Given the description of an element on the screen output the (x, y) to click on. 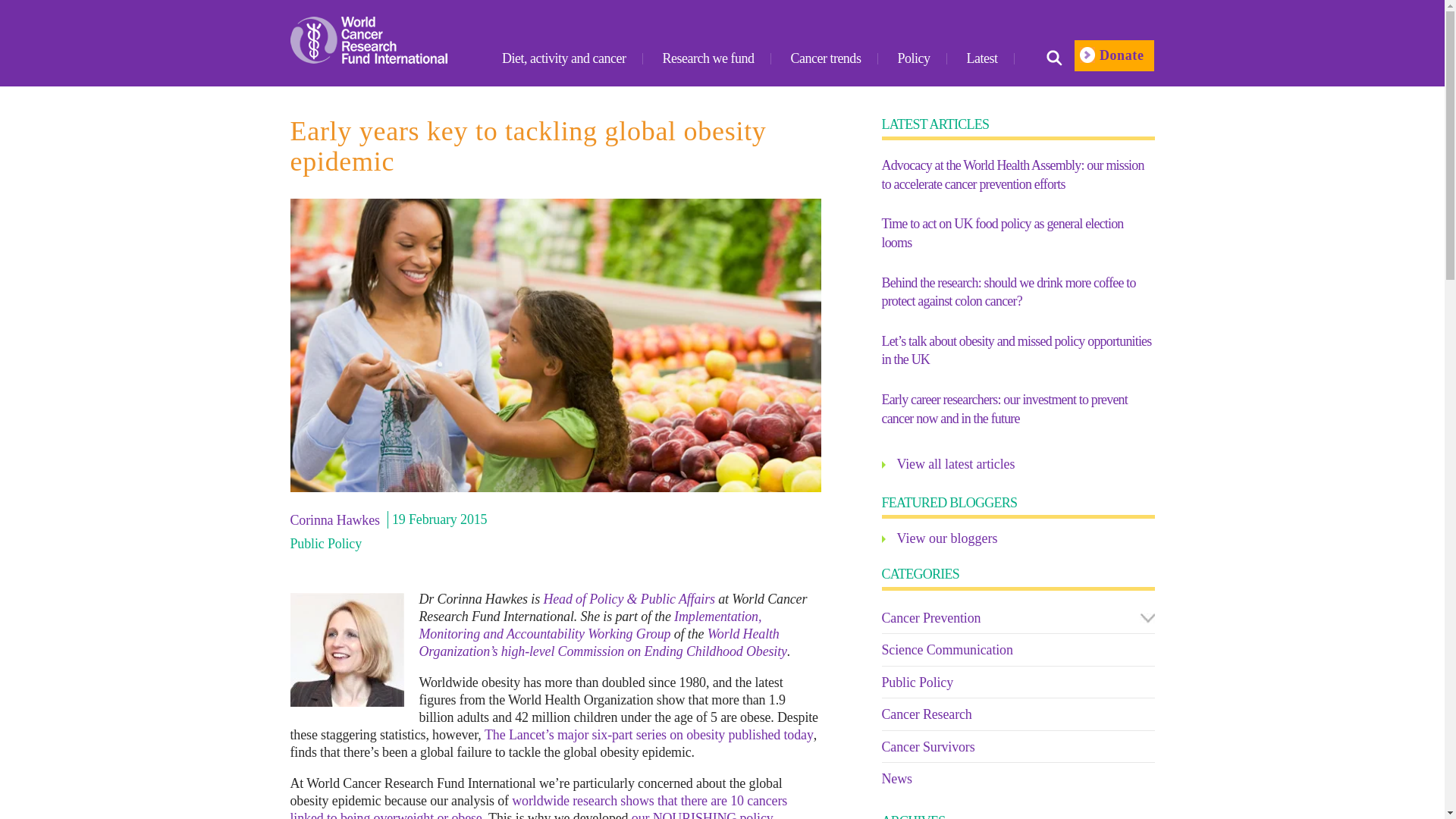
Cancer trends (824, 58)
Donate (1114, 55)
Donate (1114, 57)
Research we fund (707, 58)
Posts by Corinna Hawkes (335, 519)
Latest (981, 58)
Policy (913, 58)
Diet, activity and cancer (563, 58)
